Given the description of an element on the screen output the (x, y) to click on. 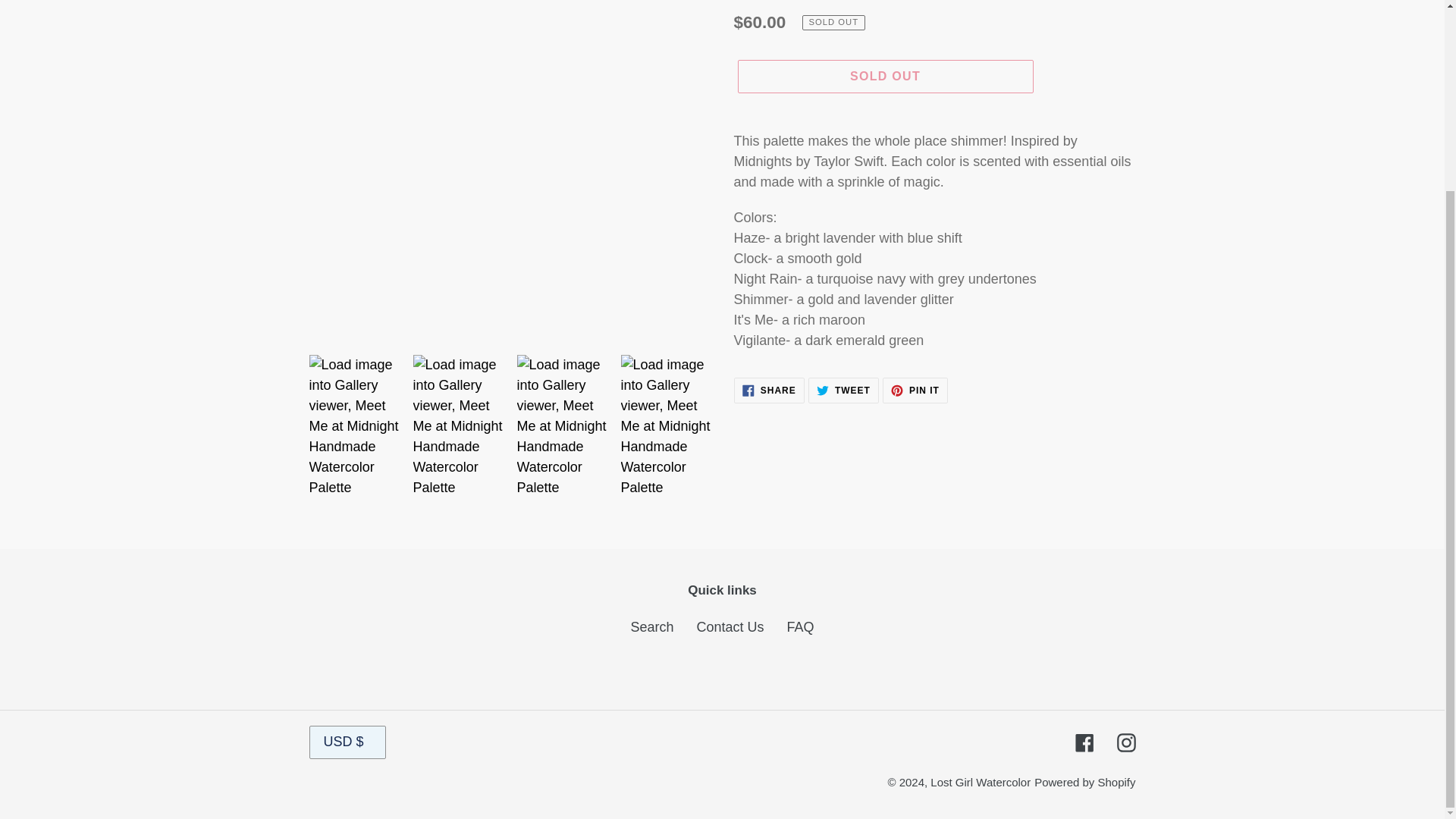
SOLD OUT (884, 76)
